Given the description of an element on the screen output the (x, y) to click on. 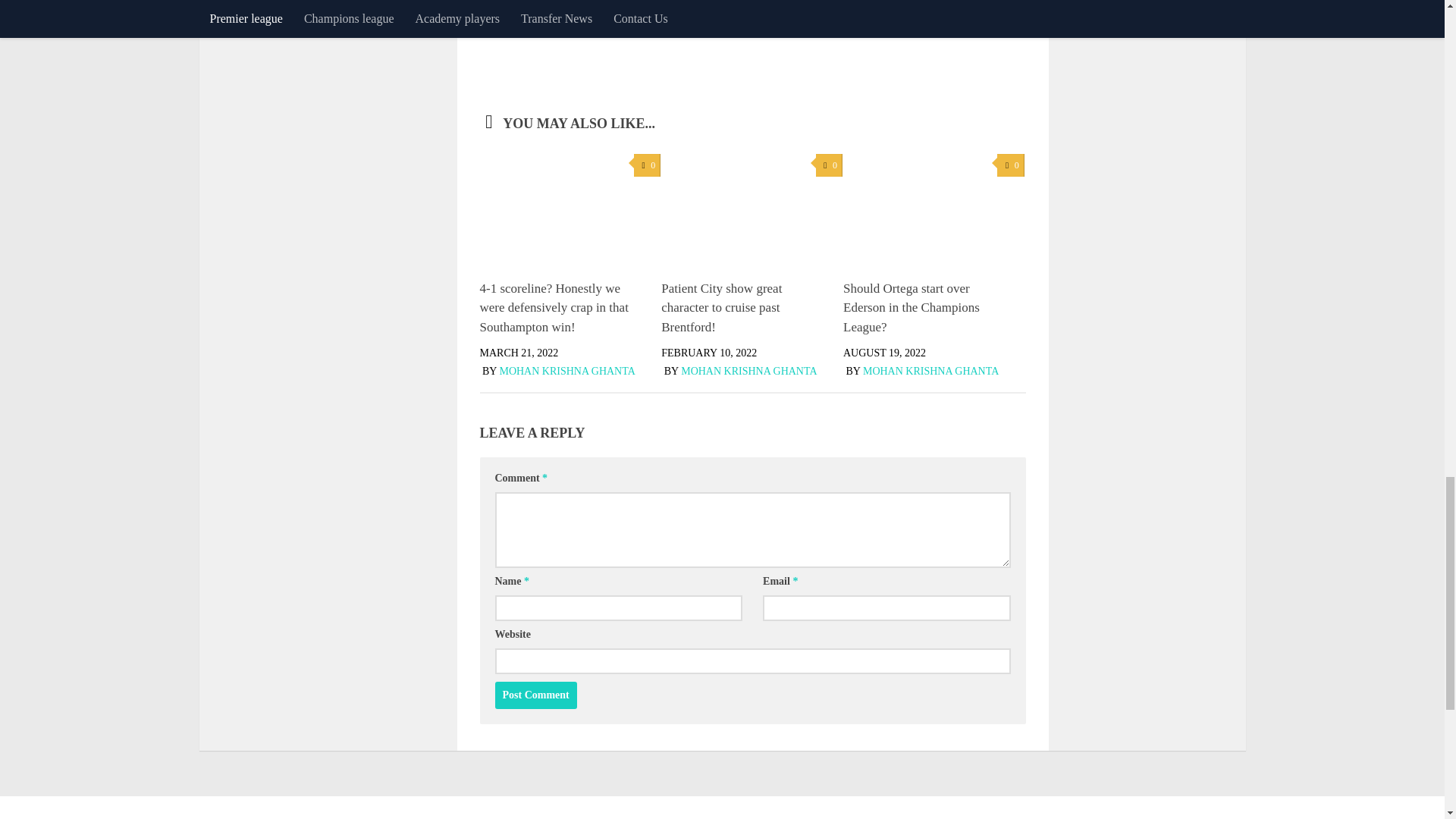
0 (829, 165)
Posts by Mohan Krishna Ghanta (566, 370)
0 (1010, 165)
Posts by Mohan Krishna Ghanta (930, 370)
MOHAN KRISHNA GHANTA (566, 370)
Should Ortega start over Ederson in the Champions League? (911, 307)
Patient City show great character to cruise past Brentford! (721, 307)
MOHAN KRISHNA GHANTA (930, 370)
Posts by Mohan Krishna Ghanta (748, 370)
MOHAN KRISHNA GHANTA (748, 370)
Post Comment (535, 694)
0 (647, 165)
Post Comment (535, 694)
